Given the description of an element on the screen output the (x, y) to click on. 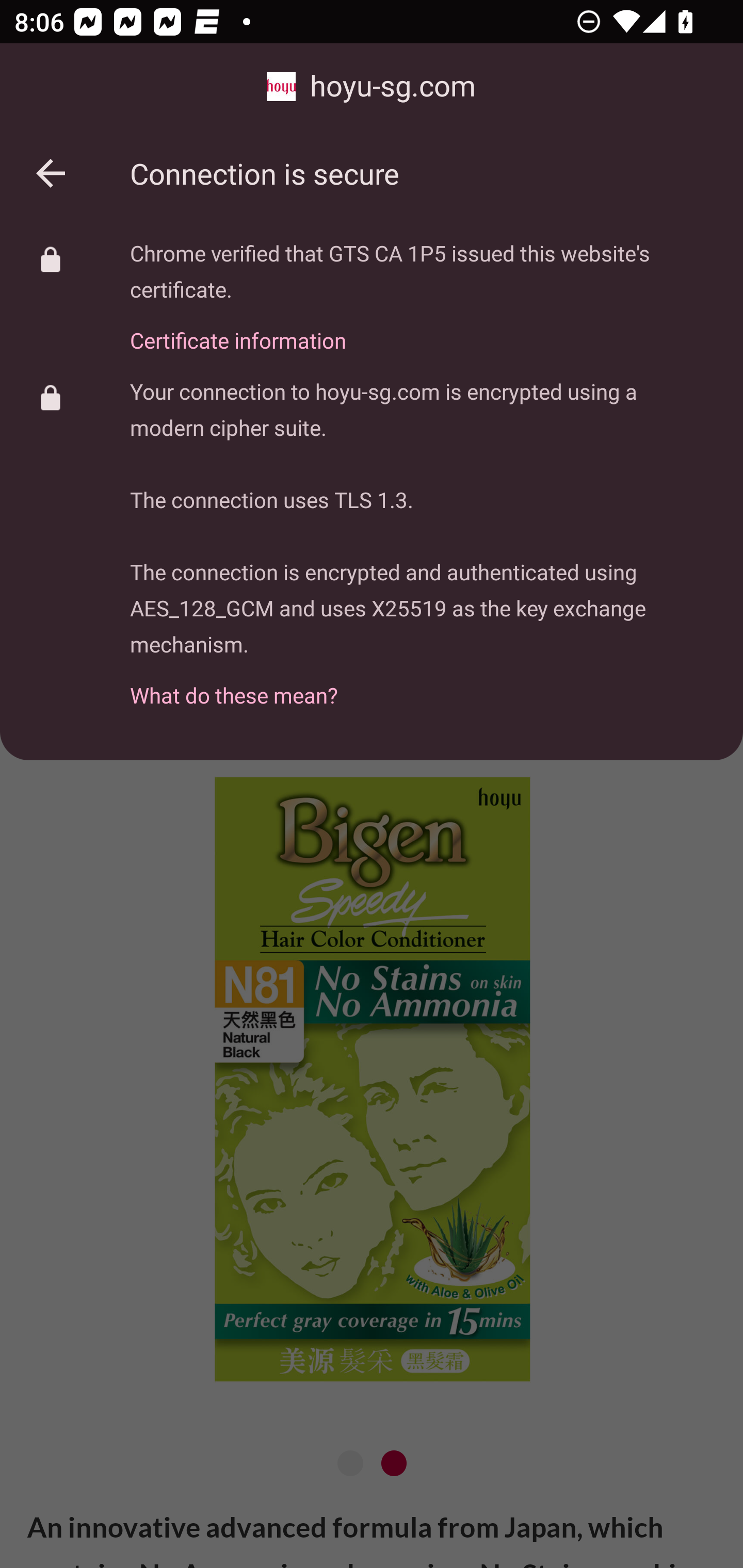
hoyu-sg.com (371, 86)
Back (50, 173)
Certificate information (422, 329)
What do these mean? (422, 684)
